Given the description of an element on the screen output the (x, y) to click on. 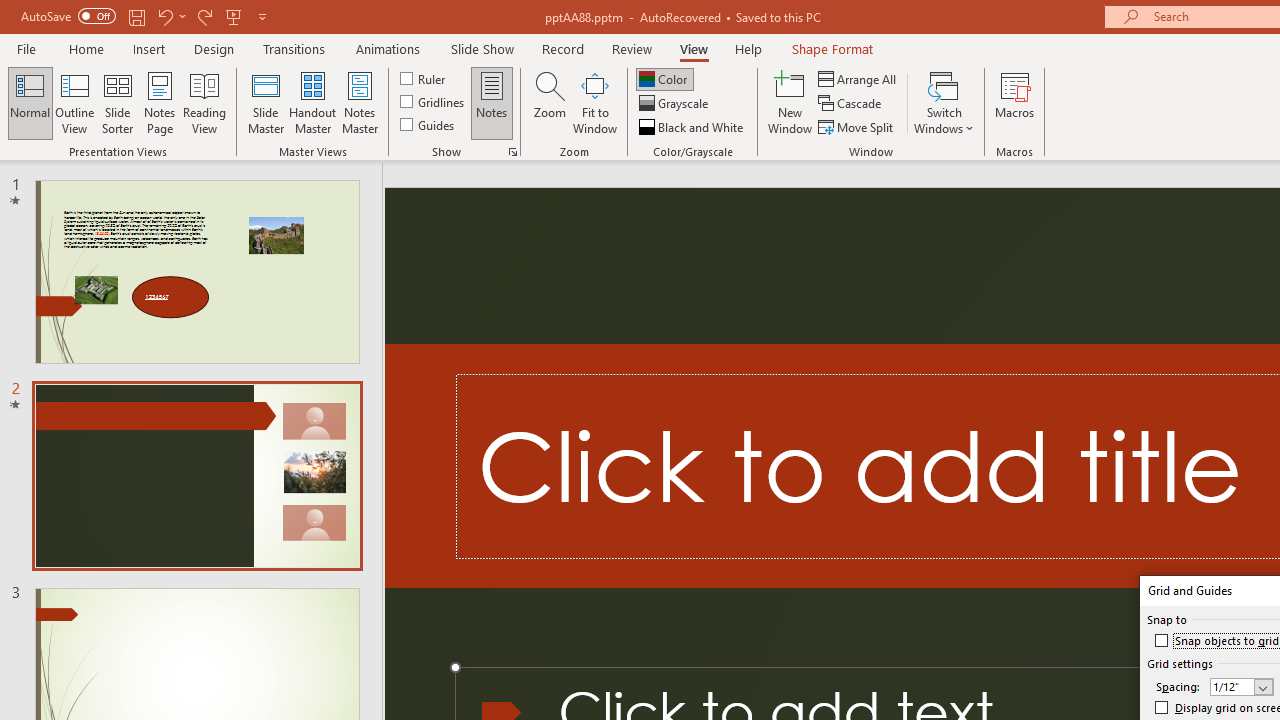
Color (664, 78)
Slide Master (265, 102)
Notes Page (159, 102)
Fit to Window (594, 102)
Outline View (74, 102)
Notes Master (360, 102)
Cascade (851, 103)
